Given the description of an element on the screen output the (x, y) to click on. 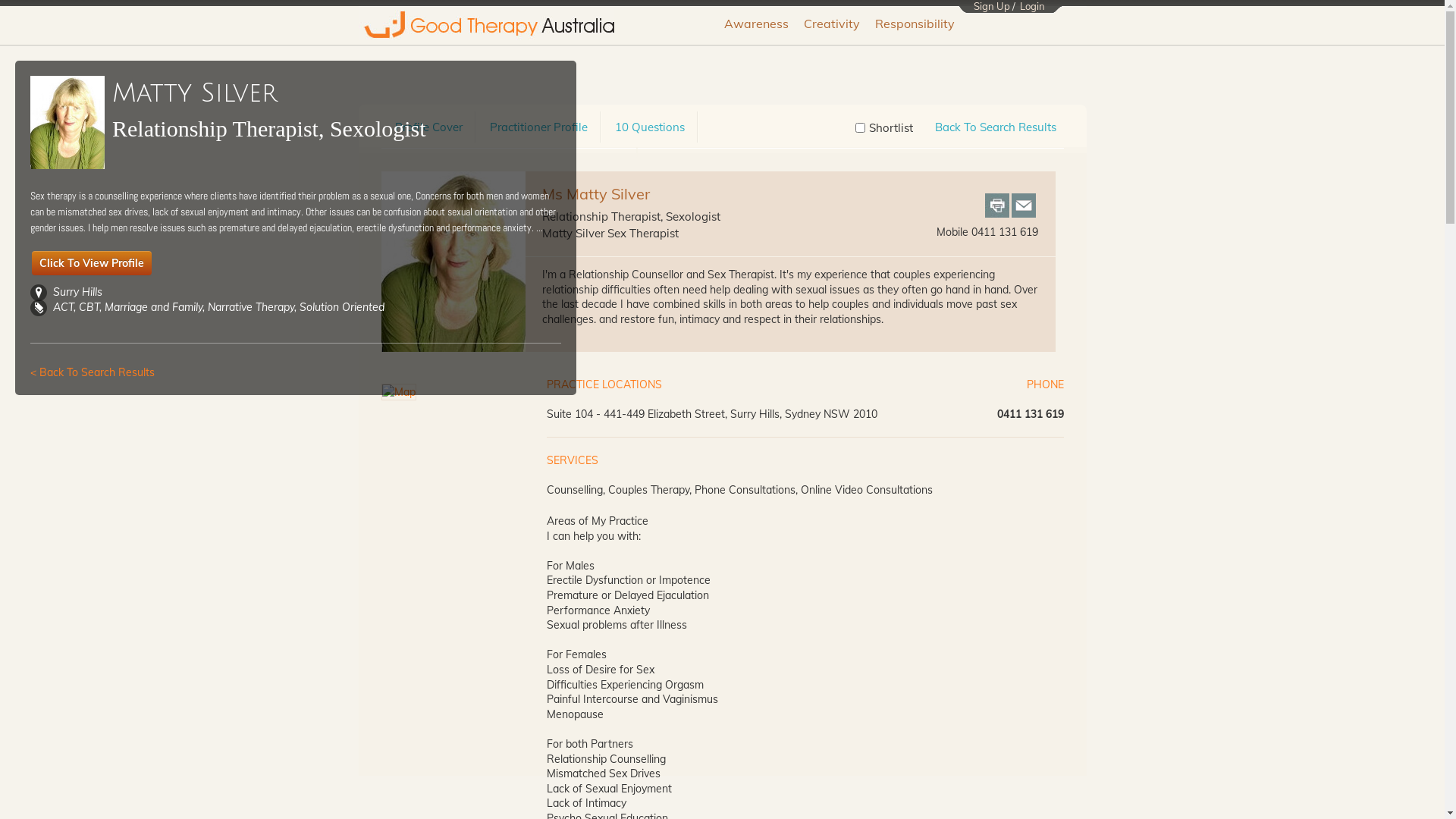
Awareness Element type: text (755, 24)
Back To Search Results Element type: text (994, 126)
Profile Cover Element type: text (427, 126)
  Element type: text (1023, 205)
< Back To Search Results Element type: text (92, 371)
10 Questions Element type: text (649, 126)
Go to print friendly page. Element type: hover (996, 205)
4317 Element type: text (860, 127)
Responsibility Element type: text (914, 24)
Email this Practitioner Element type: hover (1023, 205)
Click To View Profile Element type: text (91, 263)
Practitioner Profile Element type: text (538, 126)
Creativity Element type: text (831, 24)
